Given the description of an element on the screen output the (x, y) to click on. 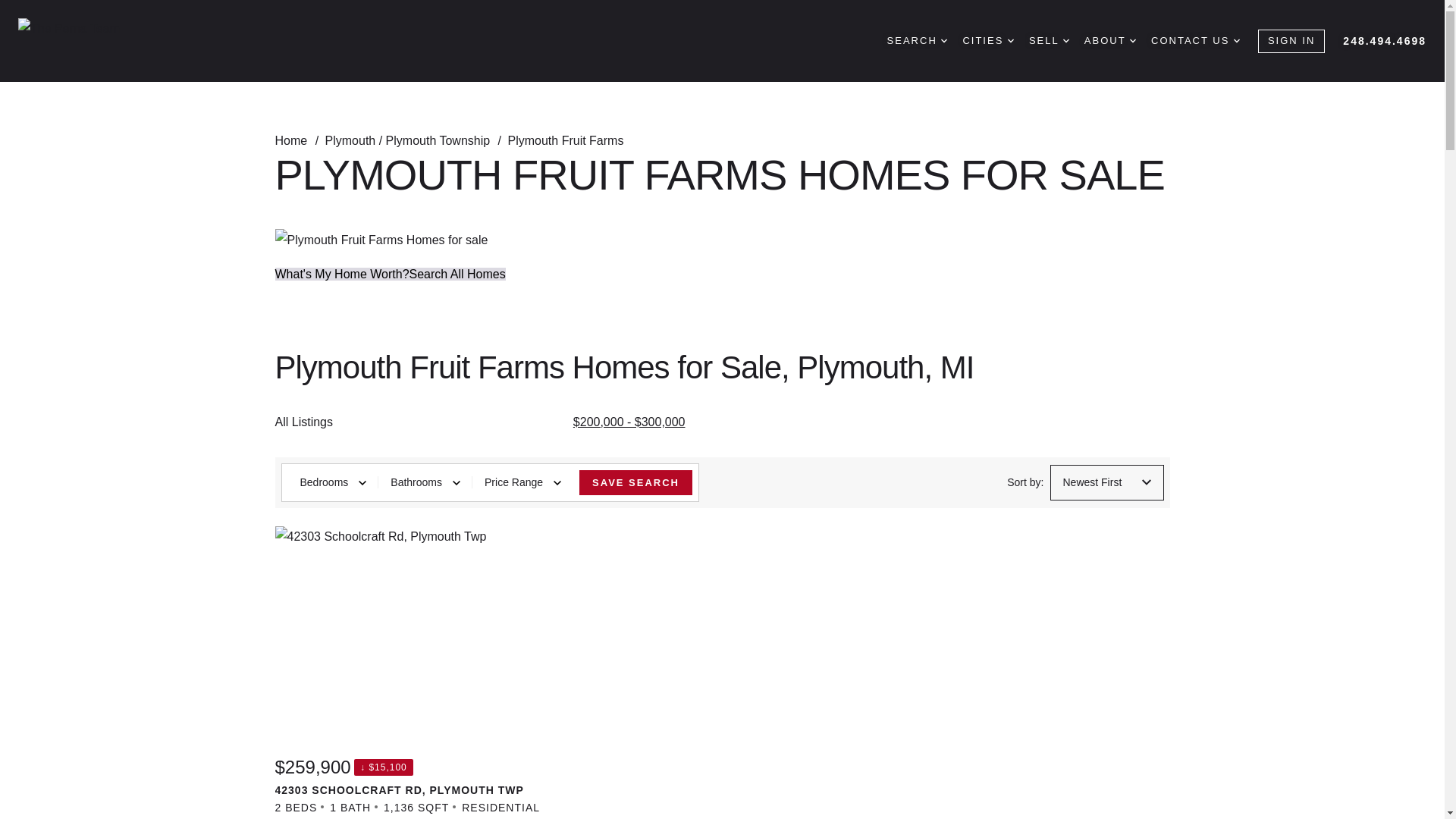
CITIES DROPDOWN ARROW (987, 41)
DROPDOWN ARROW (1236, 40)
SEARCH DROPDOWN ARROW (916, 41)
DROPDOWN ARROW (1132, 40)
SELL DROPDOWN ARROW (1048, 41)
DROPDOWN ARROW (943, 40)
DROPDOWN ARROW (1010, 40)
DROPDOWN ARROW (1065, 40)
